Given the description of an element on the screen output the (x, y) to click on. 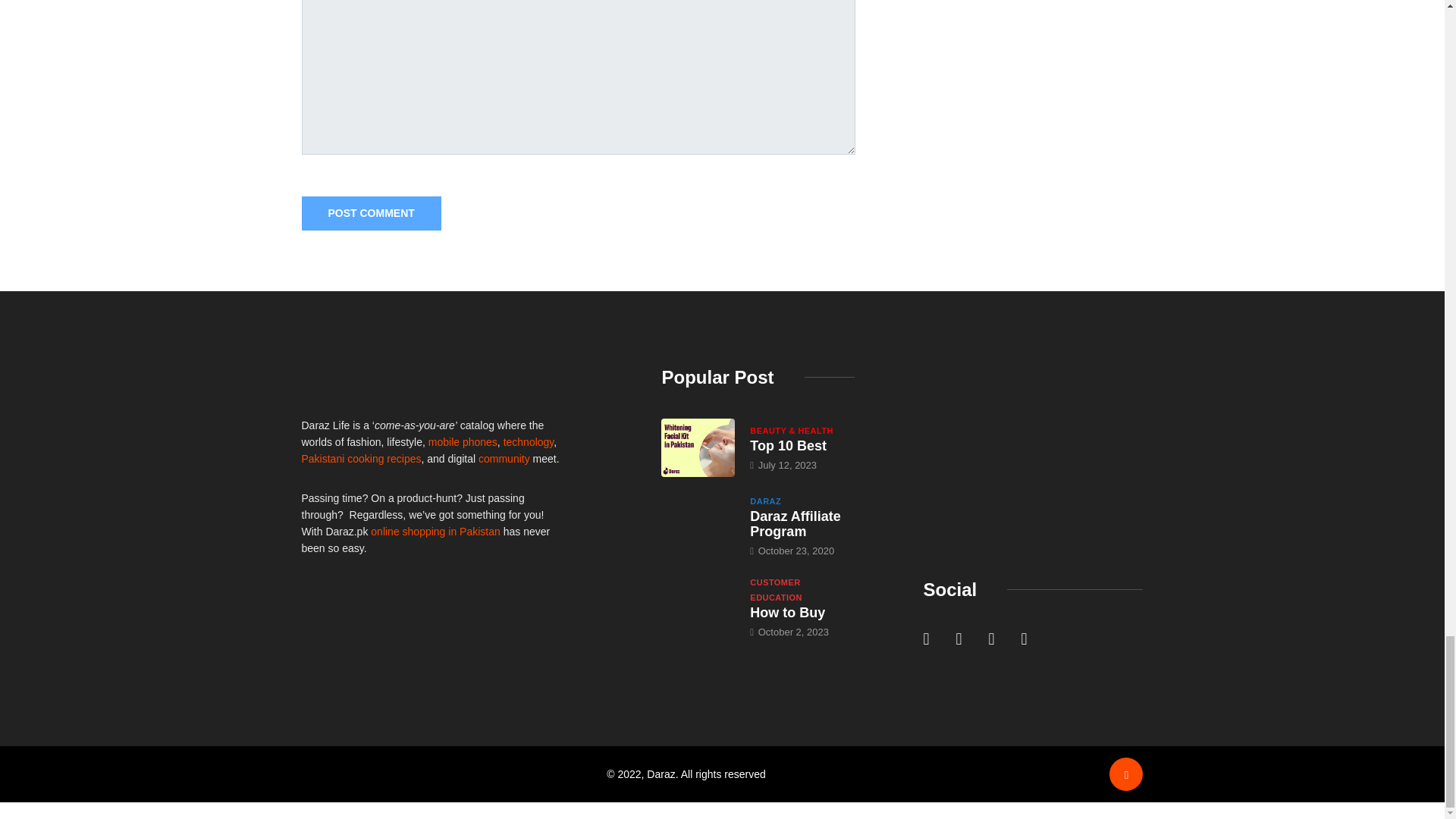
Top 10 Best Whitening Facial Kit in Pakistan 2023 (698, 447)
Top 10 Best Whitening Facial Kit in Pakistan 2023 (788, 445)
Post Comment (371, 213)
Daraz Affiliate Program in Pakistan (794, 523)
How to Buy on Installments from Daraz (787, 612)
How to Buy on Installments from Daraz (698, 603)
Daraz Affiliate Program in Pakistan (698, 521)
Post Comment (371, 213)
